Given the description of an element on the screen output the (x, y) to click on. 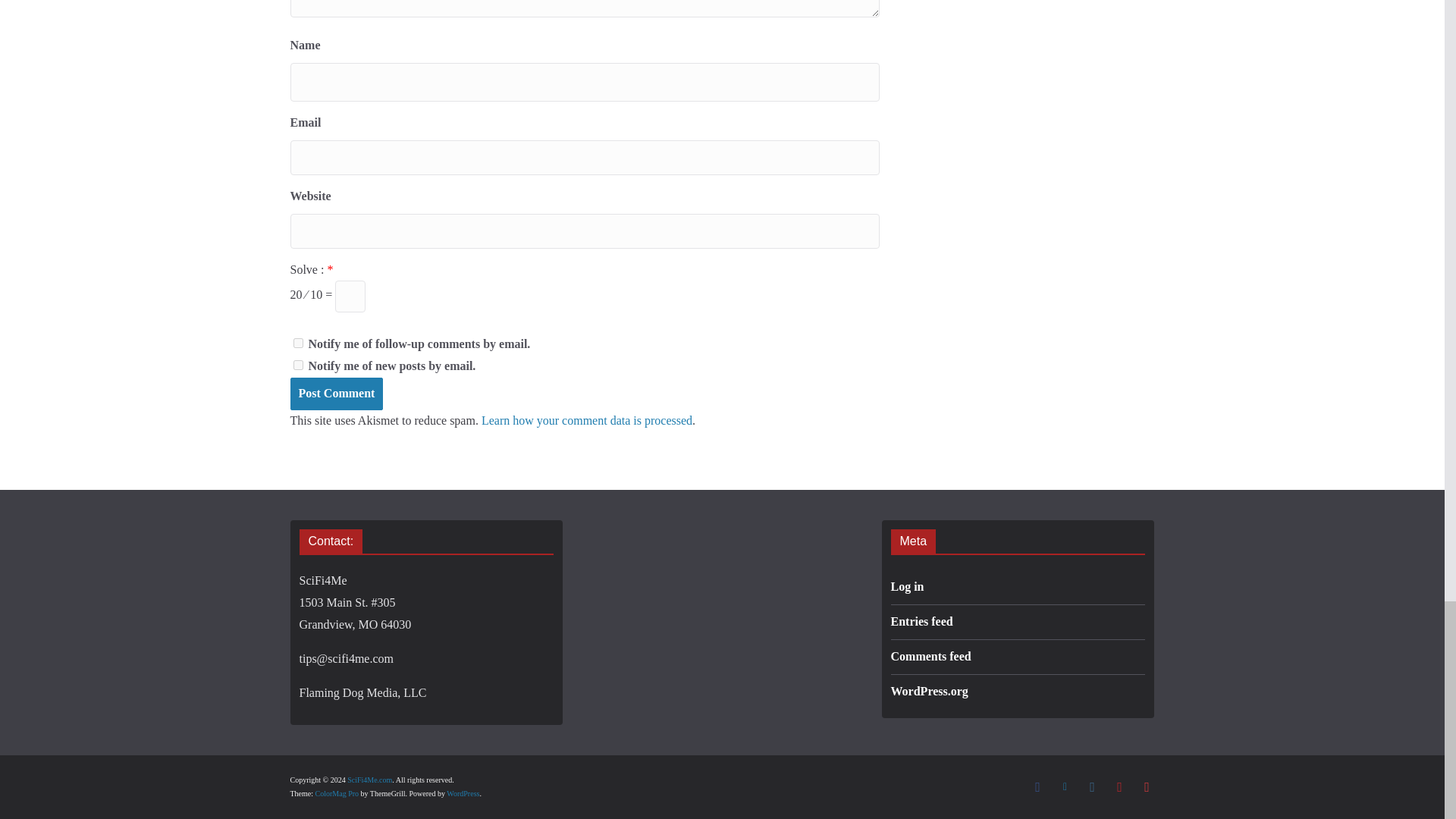
subscribe (297, 365)
subscribe (297, 343)
Post Comment (335, 393)
